Given the description of an element on the screen output the (x, y) to click on. 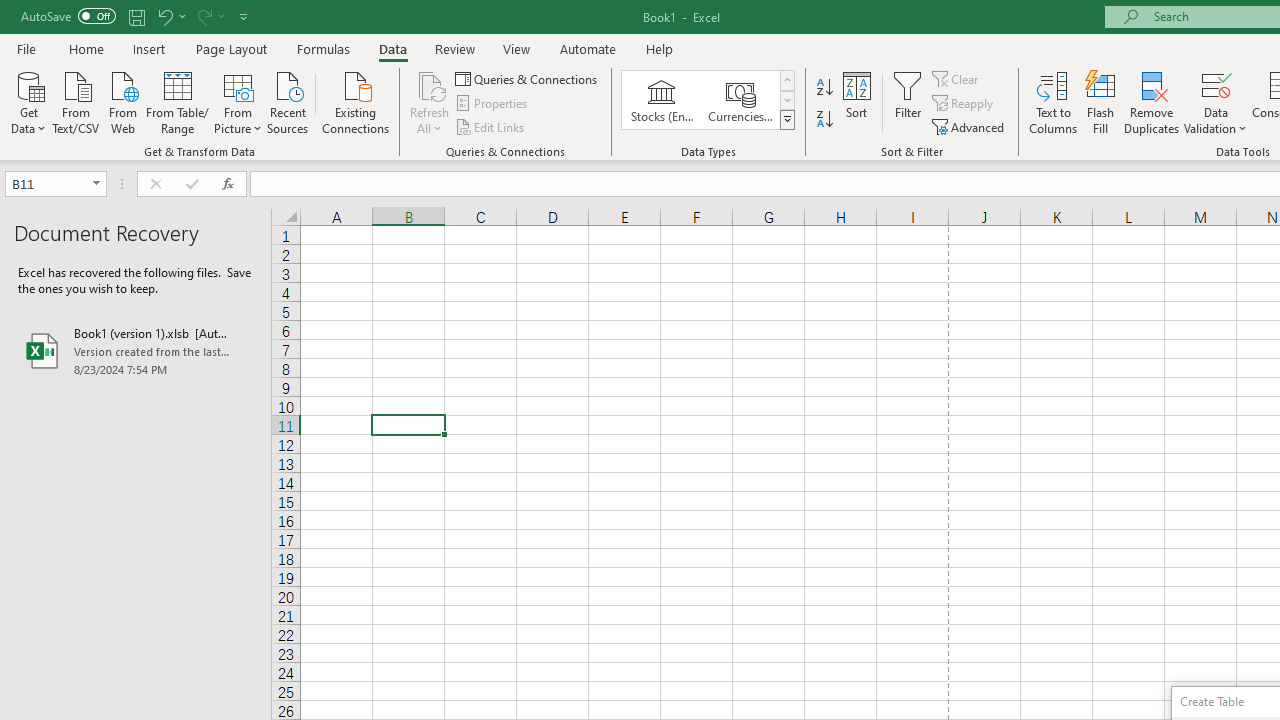
Sort... (856, 102)
Flash Fill (1101, 102)
Get Data (28, 101)
From Web (122, 101)
Reapply (964, 103)
